Given the description of an element on the screen output the (x, y) to click on. 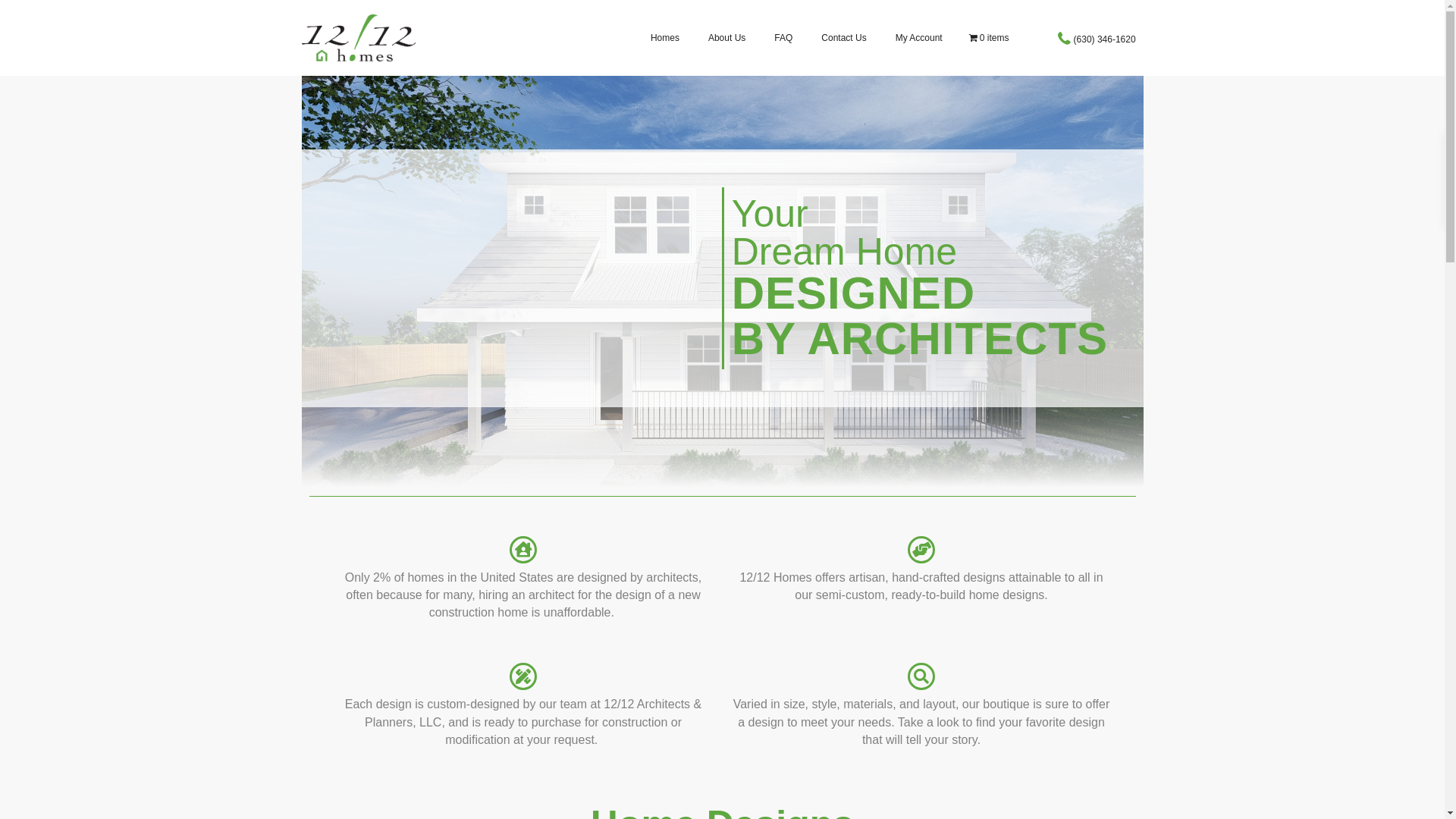
(630) 346-1620 Element type: text (1104, 38)
Contact Us Element type: text (843, 37)
My Account Element type: text (918, 37)
About Us Element type: text (726, 37)
0 items Element type: text (988, 37)
Homes Element type: text (664, 37)
FAQ Element type: text (782, 37)
